Given the description of an element on the screen output the (x, y) to click on. 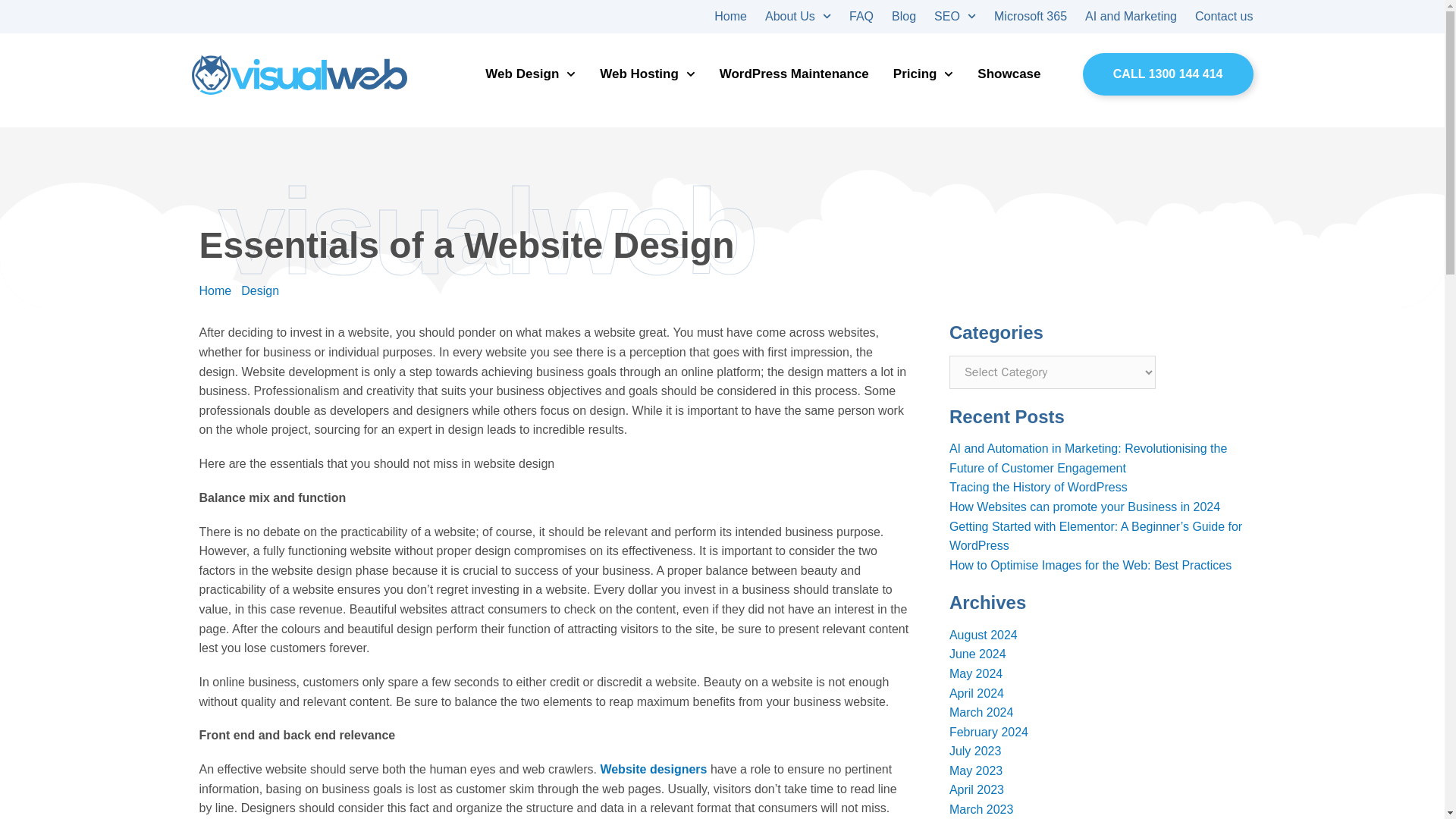
Web Design (529, 73)
AI and Marketing (1130, 16)
Home (730, 16)
Microsoft 365 (1030, 16)
SEO (954, 16)
About Us (798, 16)
WordPress Maintenance (794, 73)
Contact us (1223, 16)
Web Hosting (646, 73)
